Given the description of an element on the screen output the (x, y) to click on. 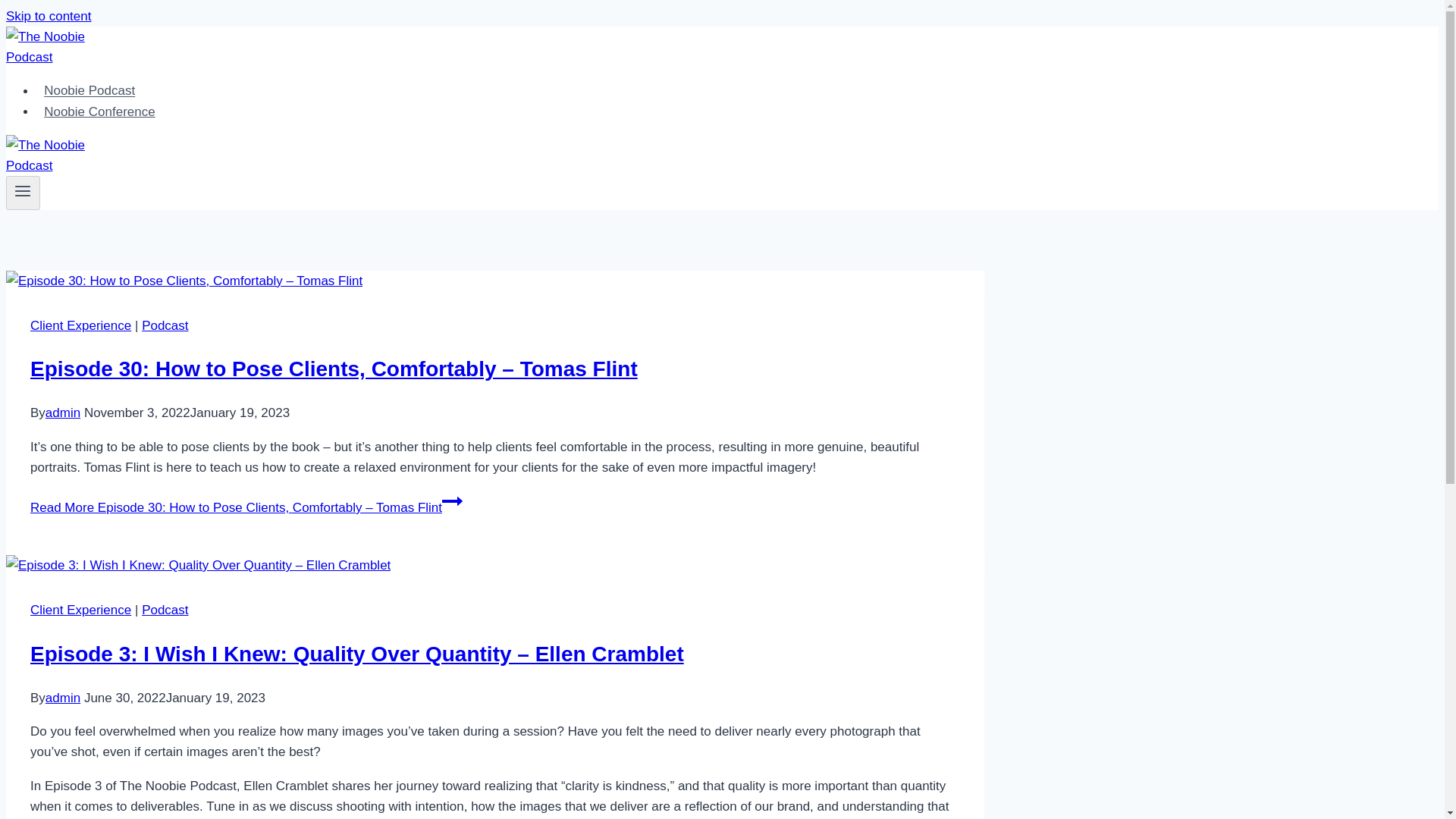
Continue (452, 500)
admin (62, 412)
Skip to content (47, 16)
Client Experience (80, 609)
Noobie Conference (99, 111)
admin (62, 698)
Client Experience (80, 325)
Podcast (164, 325)
Podcast (164, 609)
Toggle Menu (22, 190)
Toggle Menu (22, 192)
Skip to content (47, 16)
Noobie Podcast (89, 90)
